Given the description of an element on the screen output the (x, y) to click on. 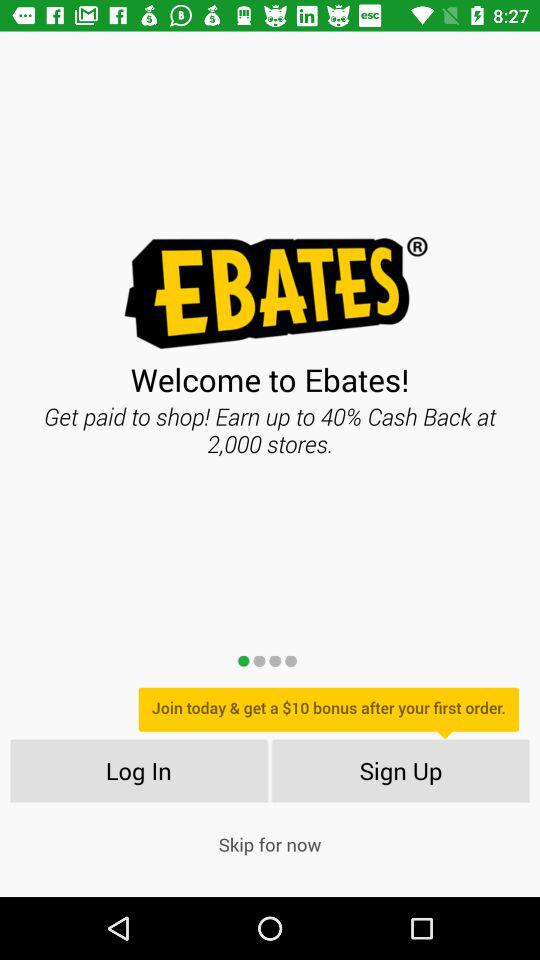
launch the icon below the log in icon (269, 844)
